Given the description of an element on the screen output the (x, y) to click on. 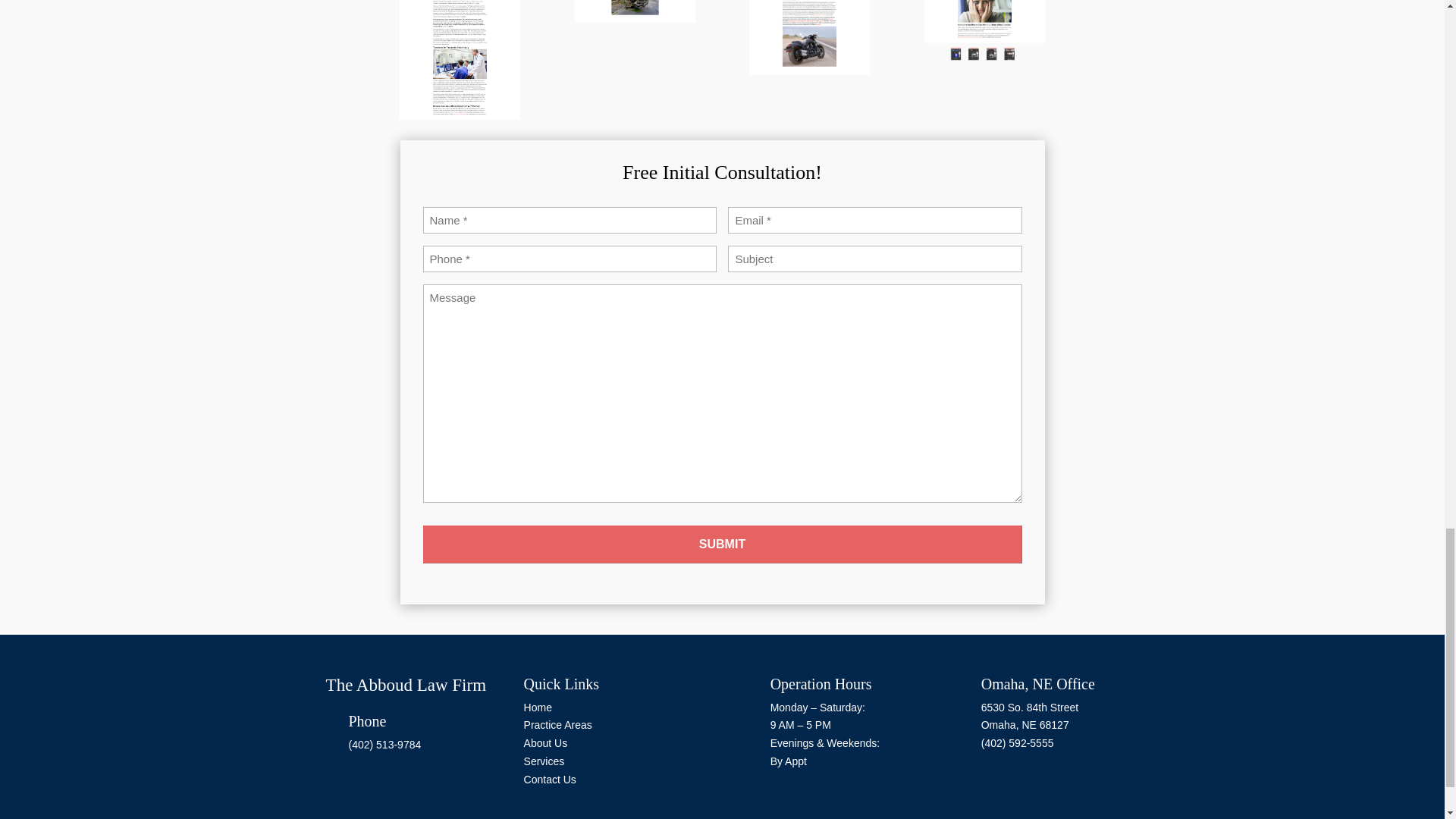
Submit (722, 544)
